Given the description of an element on the screen output the (x, y) to click on. 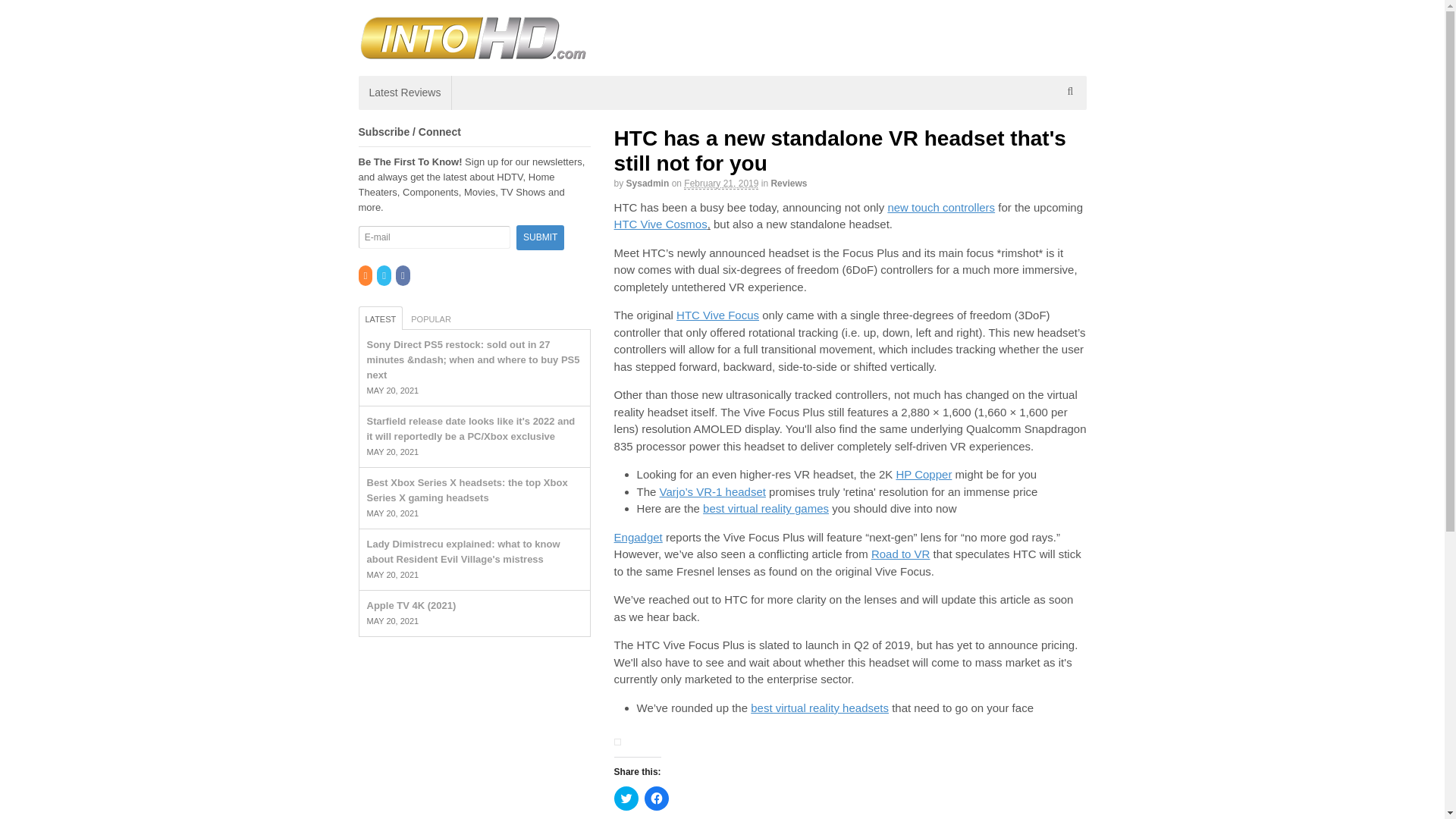
Latest Reviews (404, 92)
Submit (540, 237)
HTC Vive Focus (717, 314)
Click to share on Twitter (626, 798)
View all items in Reviews (788, 183)
Road to VR (900, 553)
High Definition Electronics News and Reviews (472, 52)
HP Copper (923, 473)
RSS (366, 276)
Search (1071, 129)
Facebook (404, 276)
Engadget (638, 536)
Sysadmin (647, 183)
